Given the description of an element on the screen output the (x, y) to click on. 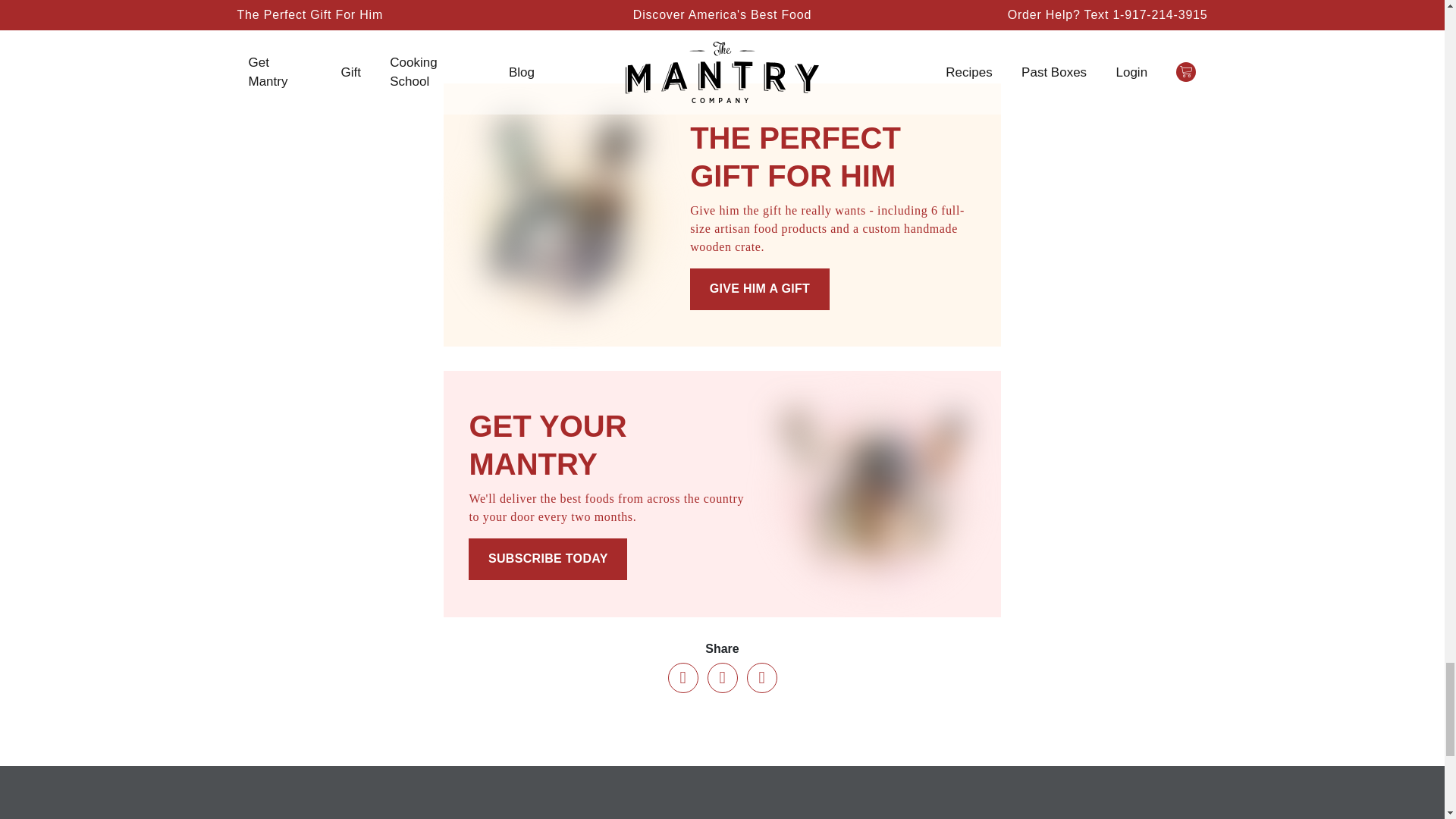
Share on Twitter (721, 677)
Share on Facebook (681, 677)
Share on Pinterest (760, 677)
